Given the description of an element on the screen output the (x, y) to click on. 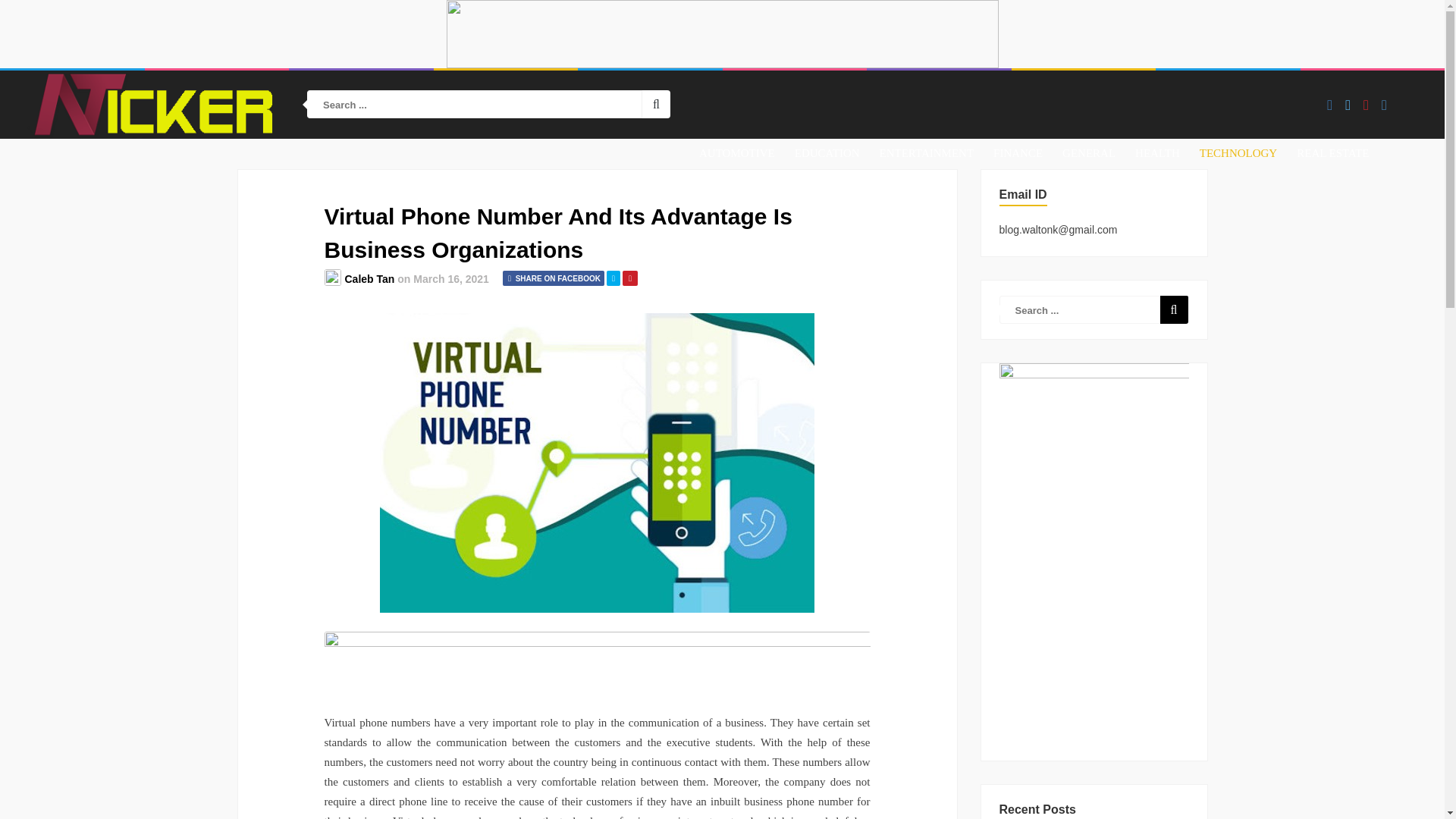
FINANCE (1017, 152)
TECHNOLOGY (1238, 152)
AUTOMOTIVE (736, 152)
GENERAL (1089, 152)
EDUCATION (827, 152)
Caleb Tan (368, 278)
SHARE ON FACEBOOK (553, 278)
ENTERTAINMENT (926, 152)
Posts by Caleb Tan (368, 278)
